Given the description of an element on the screen output the (x, y) to click on. 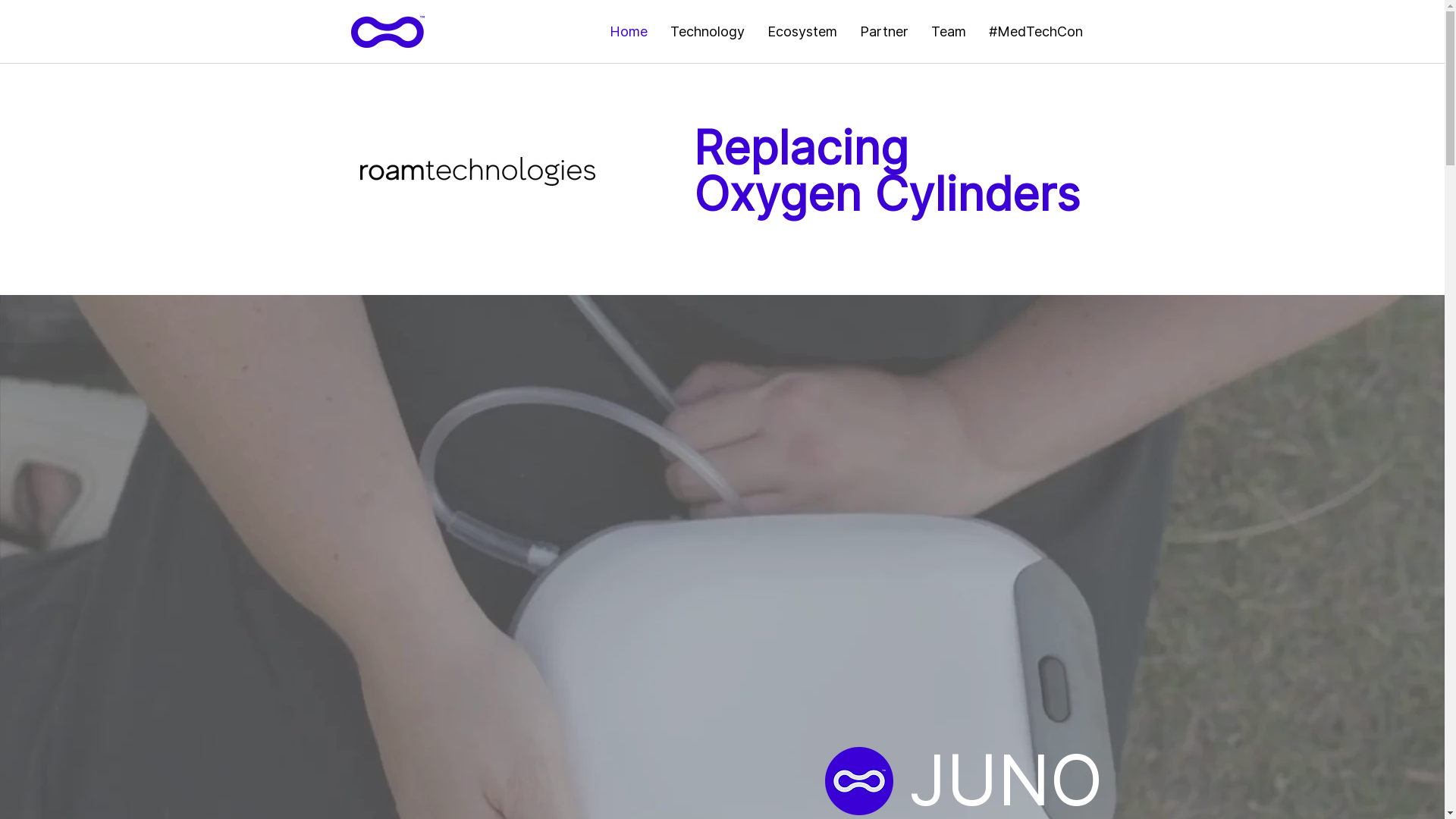
Partner Element type: text (883, 31)
#MedTechCon Element type: text (1034, 31)
Home Element type: text (627, 31)
Team Element type: text (947, 31)
Technology Element type: text (706, 31)
Ecosystem Element type: text (801, 31)
